Given the description of an element on the screen output the (x, y) to click on. 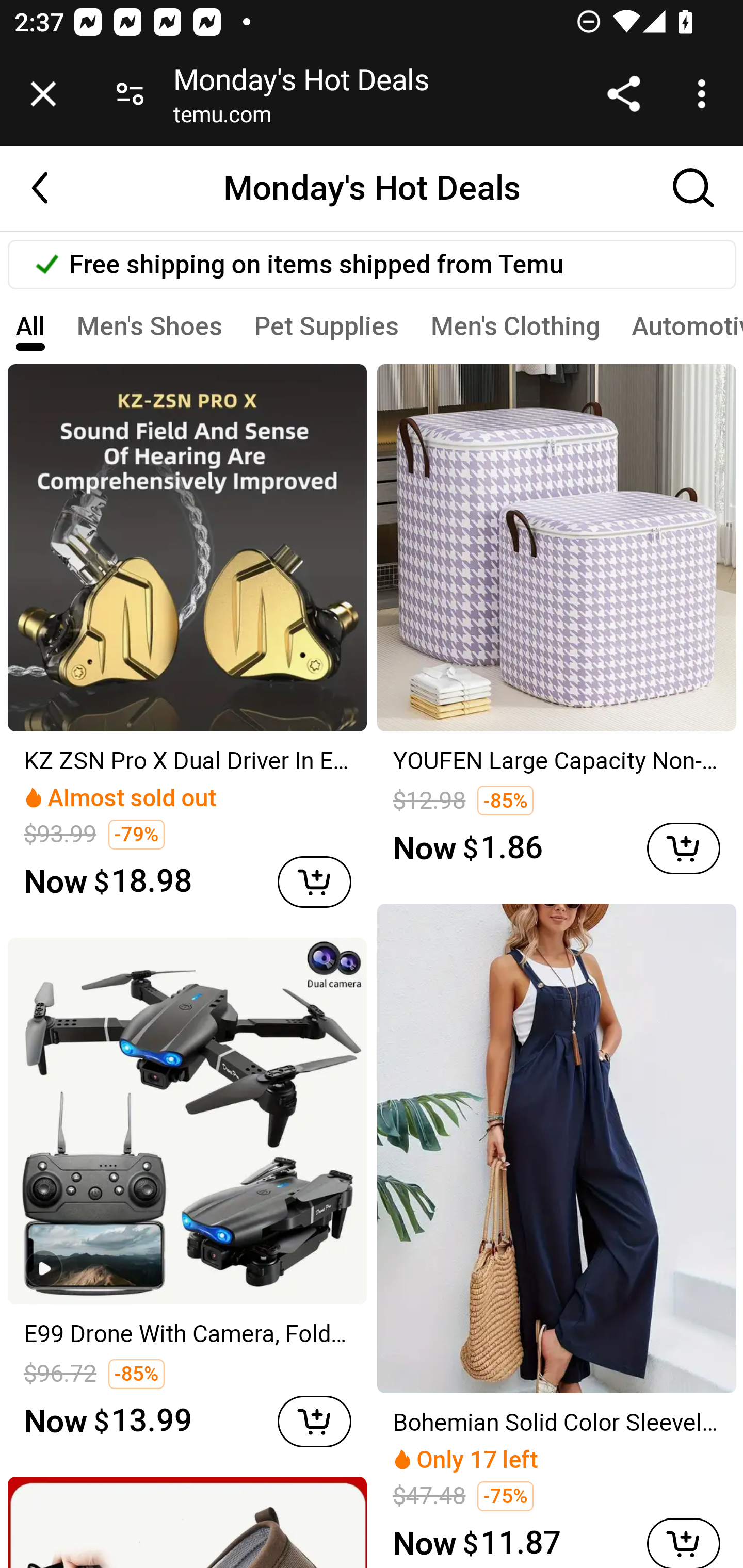
Close tab (43, 93)
Share link address (623, 93)
Customize and control Google Chrome (705, 93)
Connection is secure (129, 93)
temu.com (222, 117)
Back (50, 188)
